Given the description of an element on the screen output the (x, y) to click on. 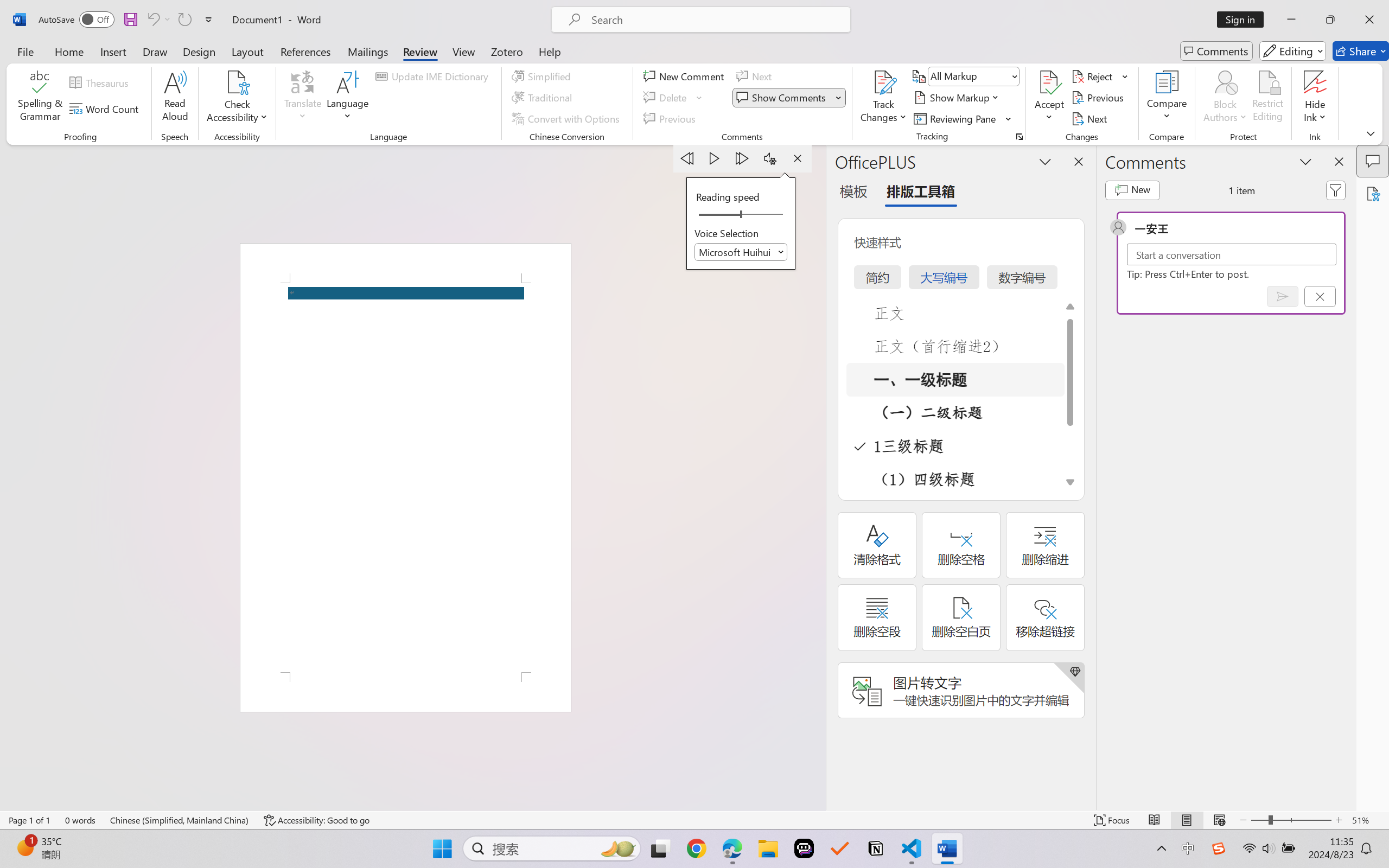
Reviewing Pane (955, 118)
Track Changes (883, 81)
Hide Ink (1315, 97)
Cancel (1320, 296)
Next Paragraph (743, 158)
Check Accessibility (237, 81)
Update IME Dictionary... (433, 75)
